Given the description of an element on the screen output the (x, y) to click on. 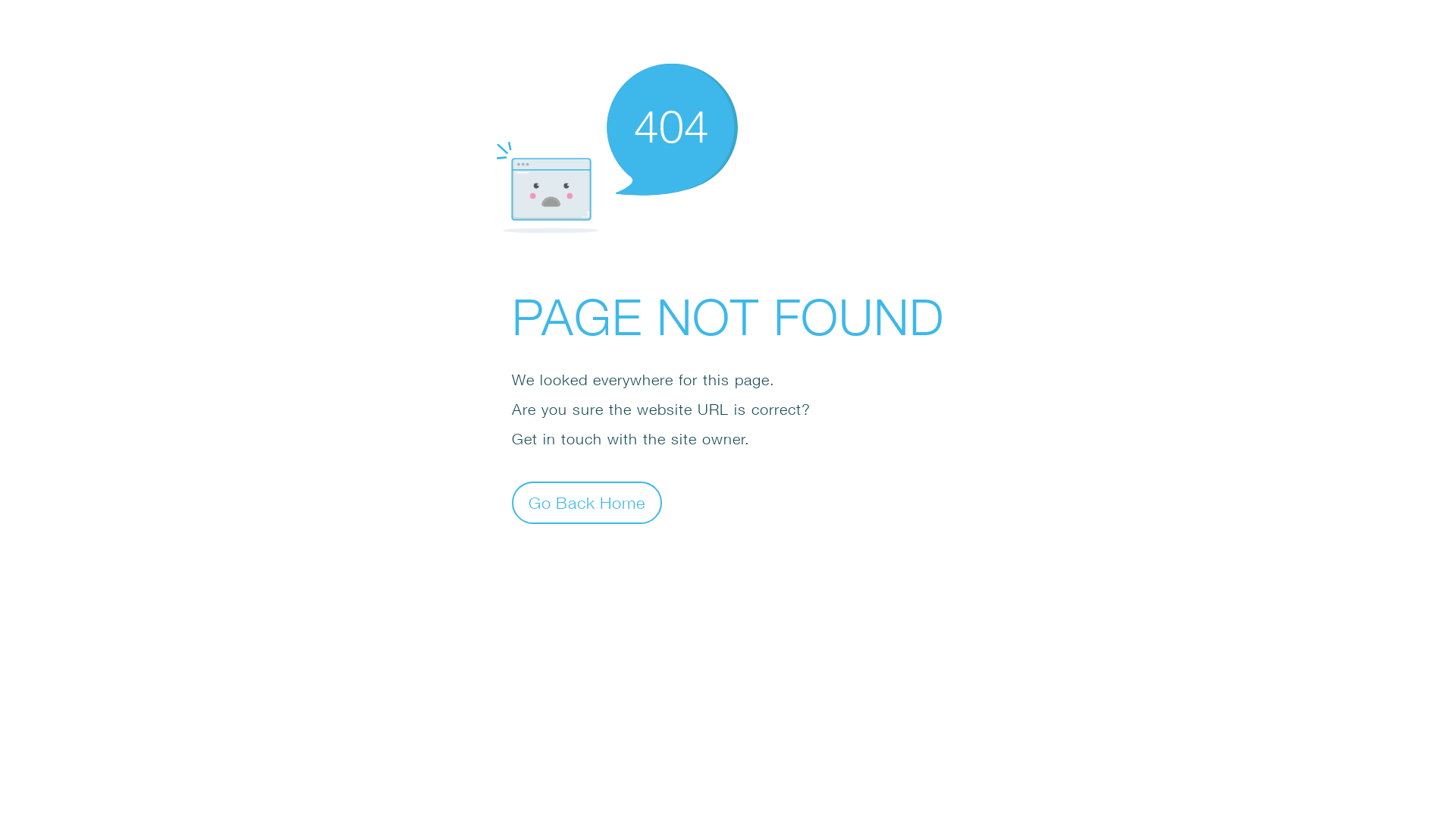
Go Back Home Element type: text (586, 502)
